Given the description of an element on the screen output the (x, y) to click on. 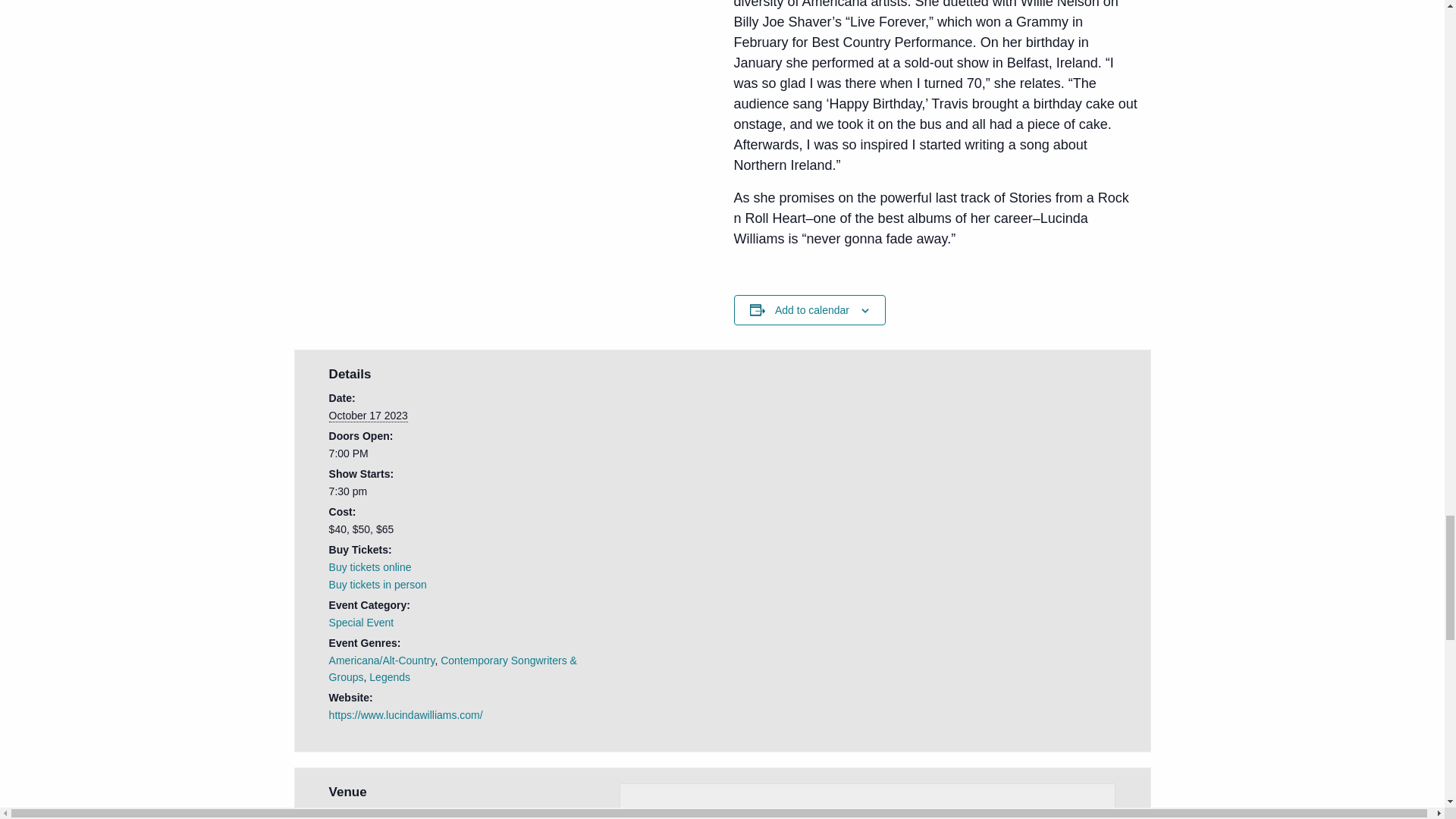
2023-10-17 (461, 491)
2023-10-17 (368, 415)
